Given the description of an element on the screen output the (x, y) to click on. 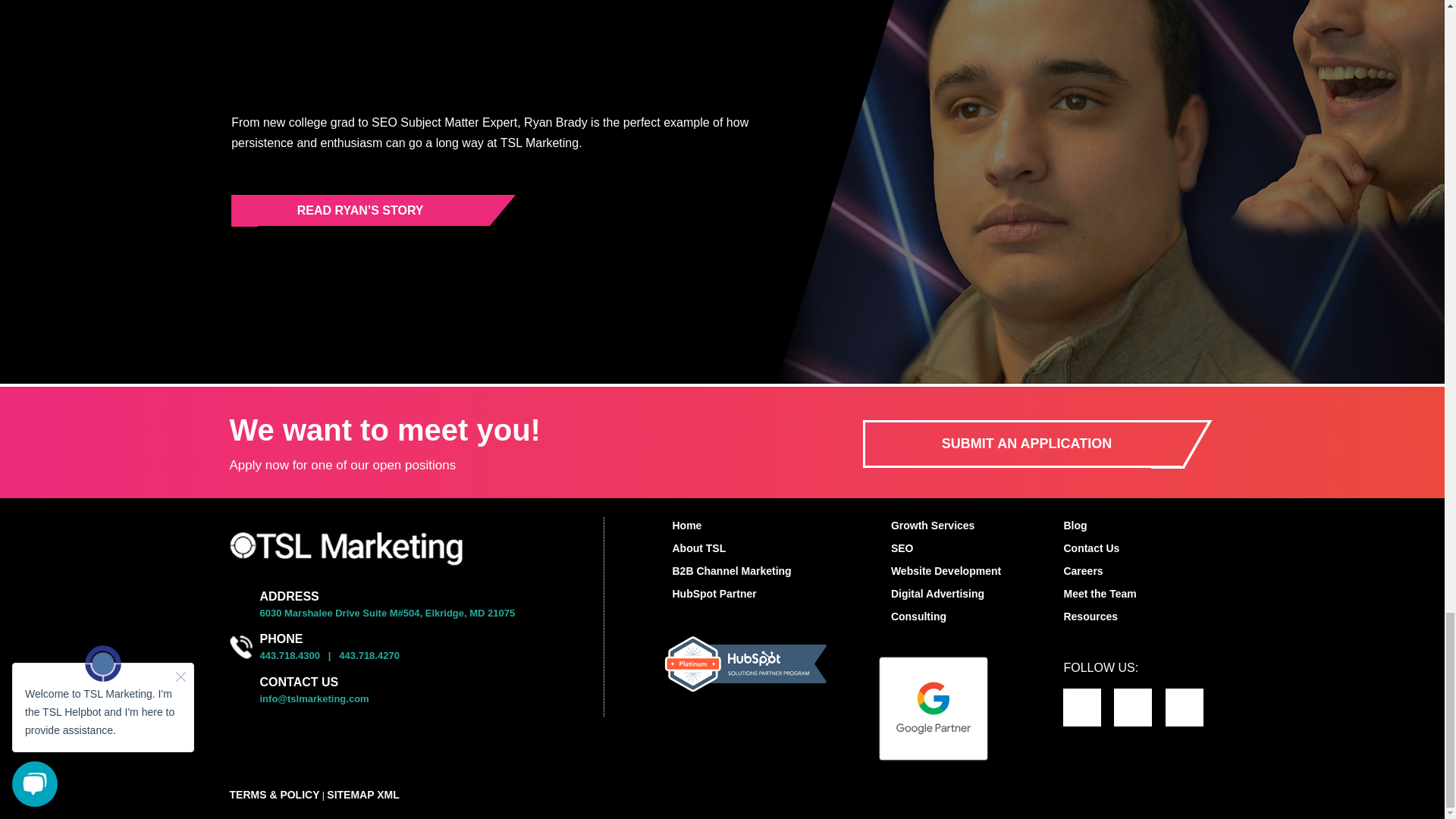
SUBMIT AN APPLICATION (1021, 443)
443.718.4300 (289, 655)
Partner-CMYK (933, 708)
footer-logo (344, 548)
443.718.4270 (368, 655)
